Given the description of an element on the screen output the (x, y) to click on. 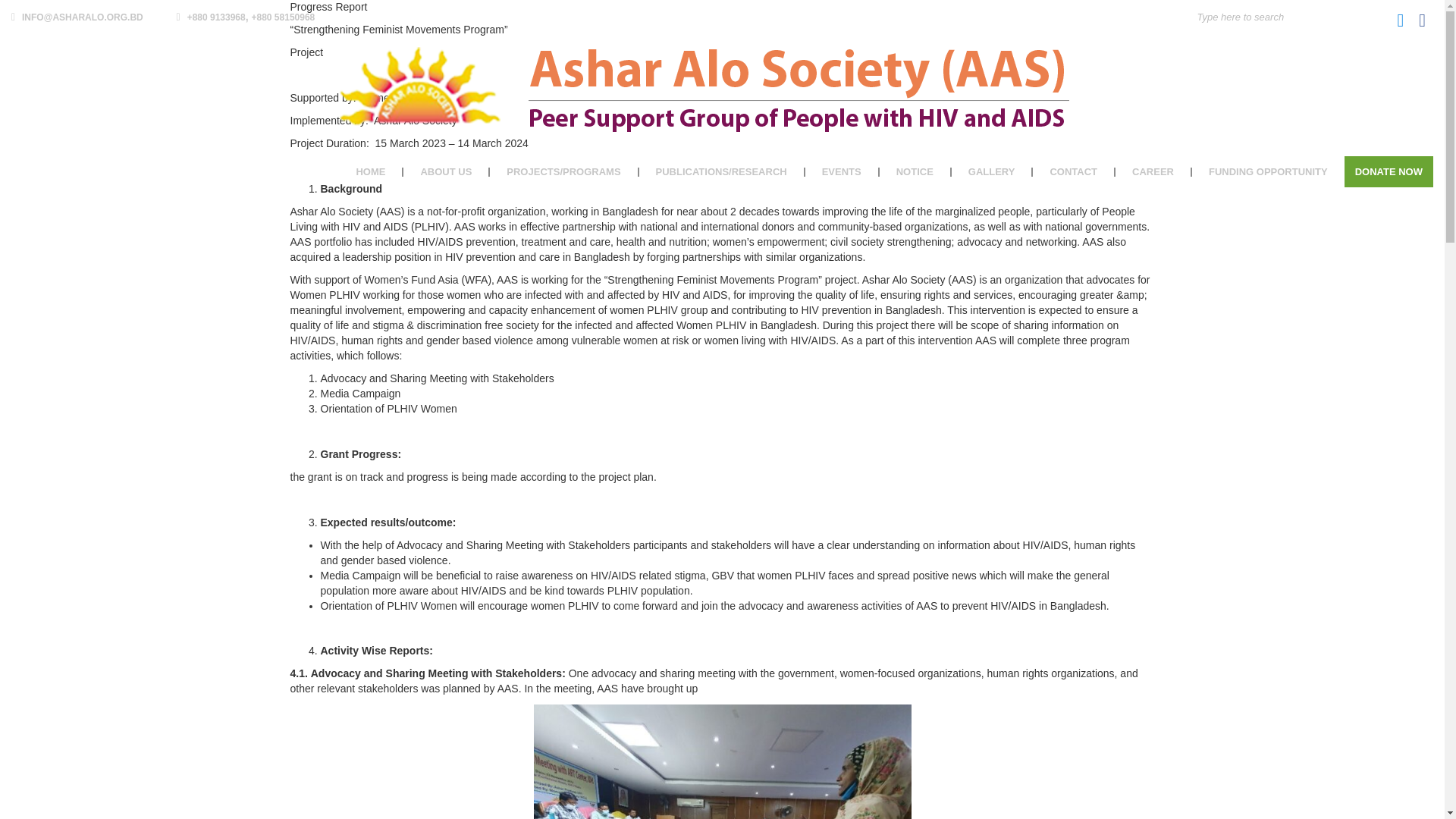
GALLERY (992, 171)
CAREER (1153, 171)
NOTICE (915, 171)
ABOUT US (446, 171)
DONATE NOW (1387, 171)
FUNDING OPPORTUNITY (1267, 171)
EVENTS (842, 171)
CONTACT (1073, 171)
HOME (371, 171)
